Given the description of an element on the screen output the (x, y) to click on. 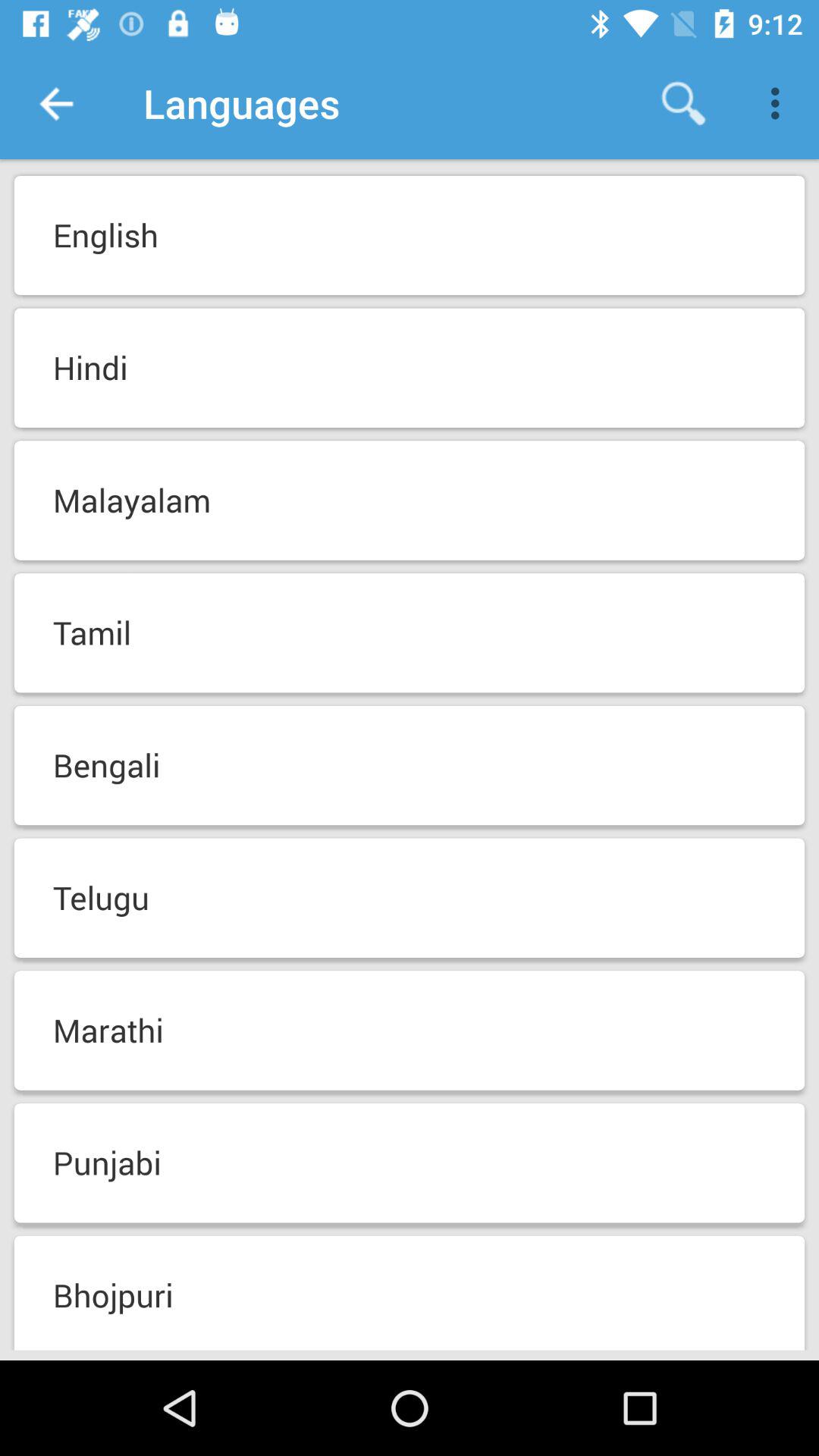
tap icon to the right of the languages  item (683, 103)
